Given the description of an element on the screen output the (x, y) to click on. 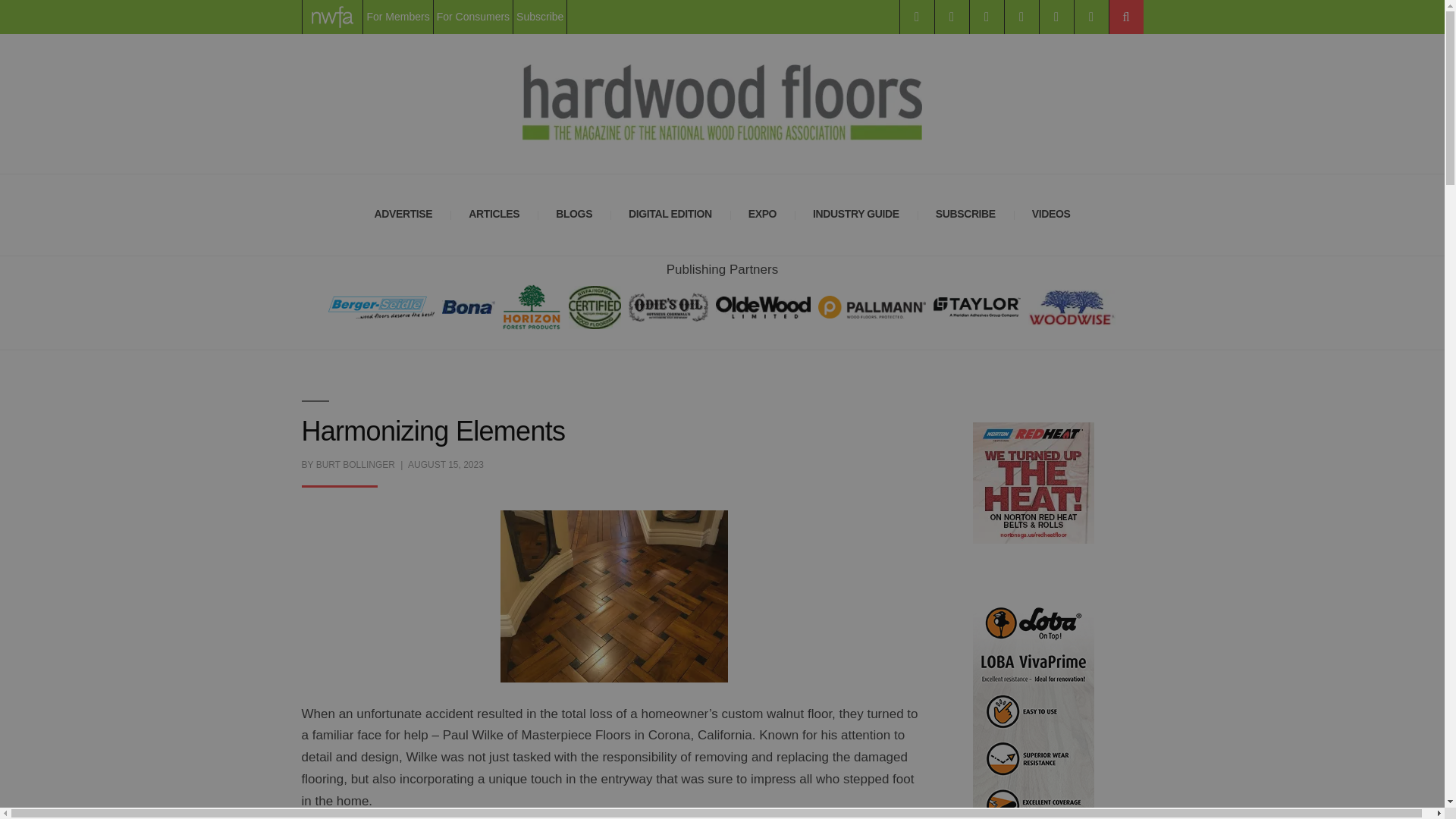
Follow me on Instagram (986, 17)
Follow me on Facebook (916, 17)
Subscribe (539, 17)
YouTube (1056, 17)
ARTICLES (493, 214)
LinkedIn (1021, 17)
National Wood Flooring Association (331, 17)
Follow me on Twitter (951, 17)
ADVERTISE (403, 214)
For Members (397, 17)
